Given the description of an element on the screen output the (x, y) to click on. 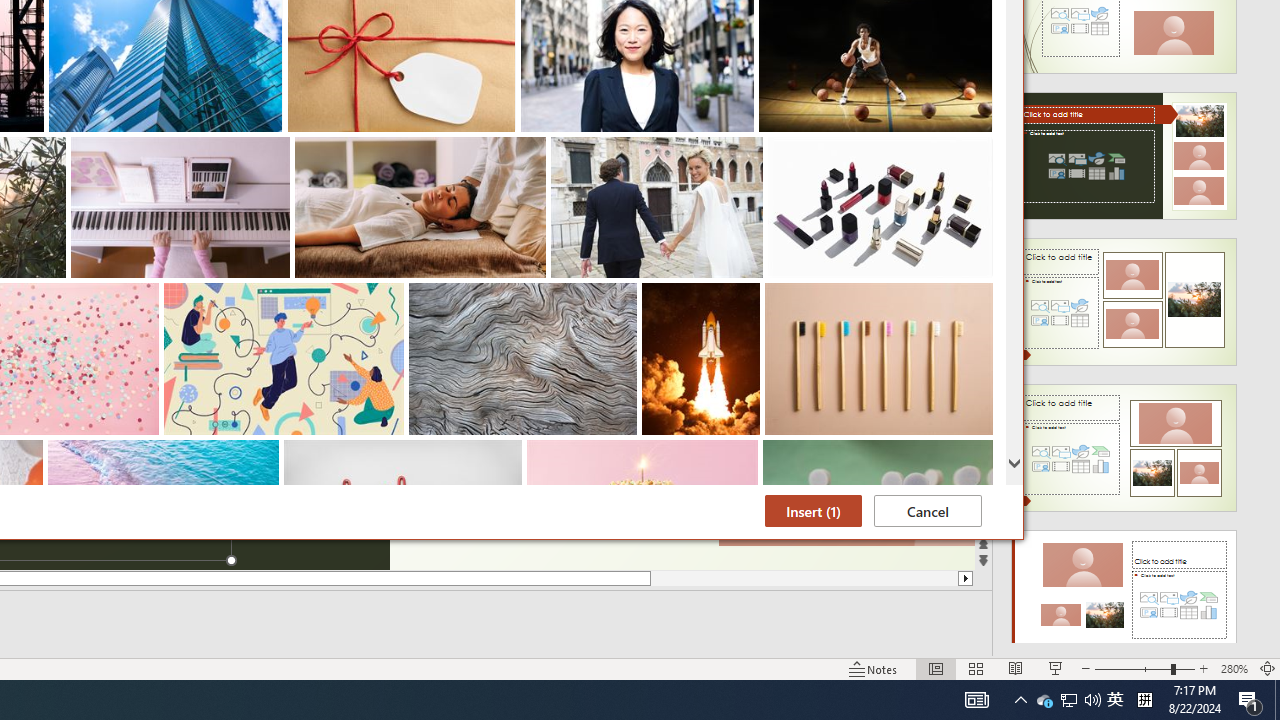
Zoom 280% (1234, 668)
Zoom (1144, 668)
Notes  (874, 668)
Show desktop (1115, 699)
Zoom to Fit  (1277, 699)
Q2790: 100% (1267, 668)
Zoom Out (1092, 699)
Reading View (1132, 668)
AutomationID: 4105 (1015, 668)
